Given the description of an element on the screen output the (x, y) to click on. 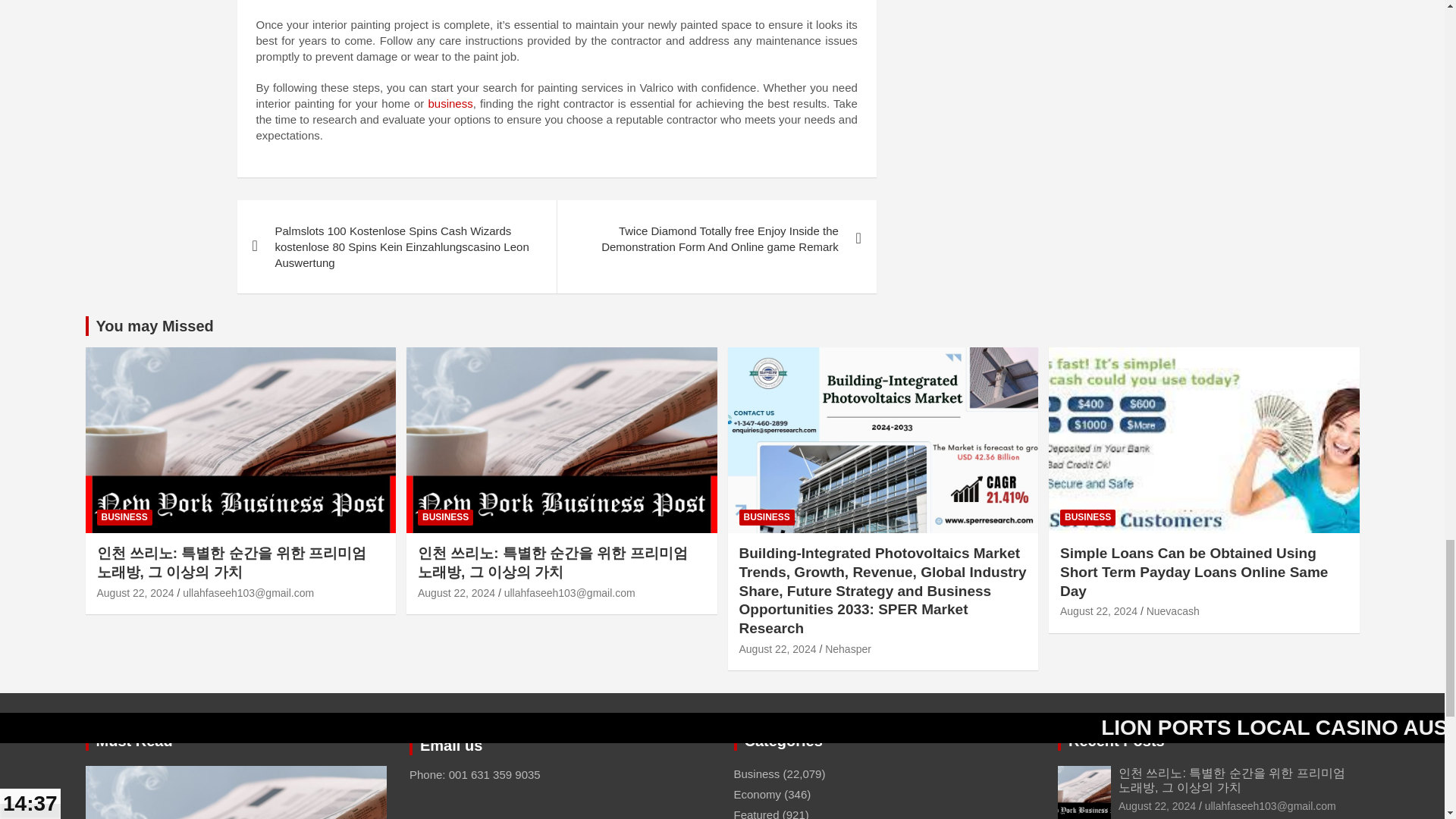
business (449, 103)
